Given the description of an element on the screen output the (x, y) to click on. 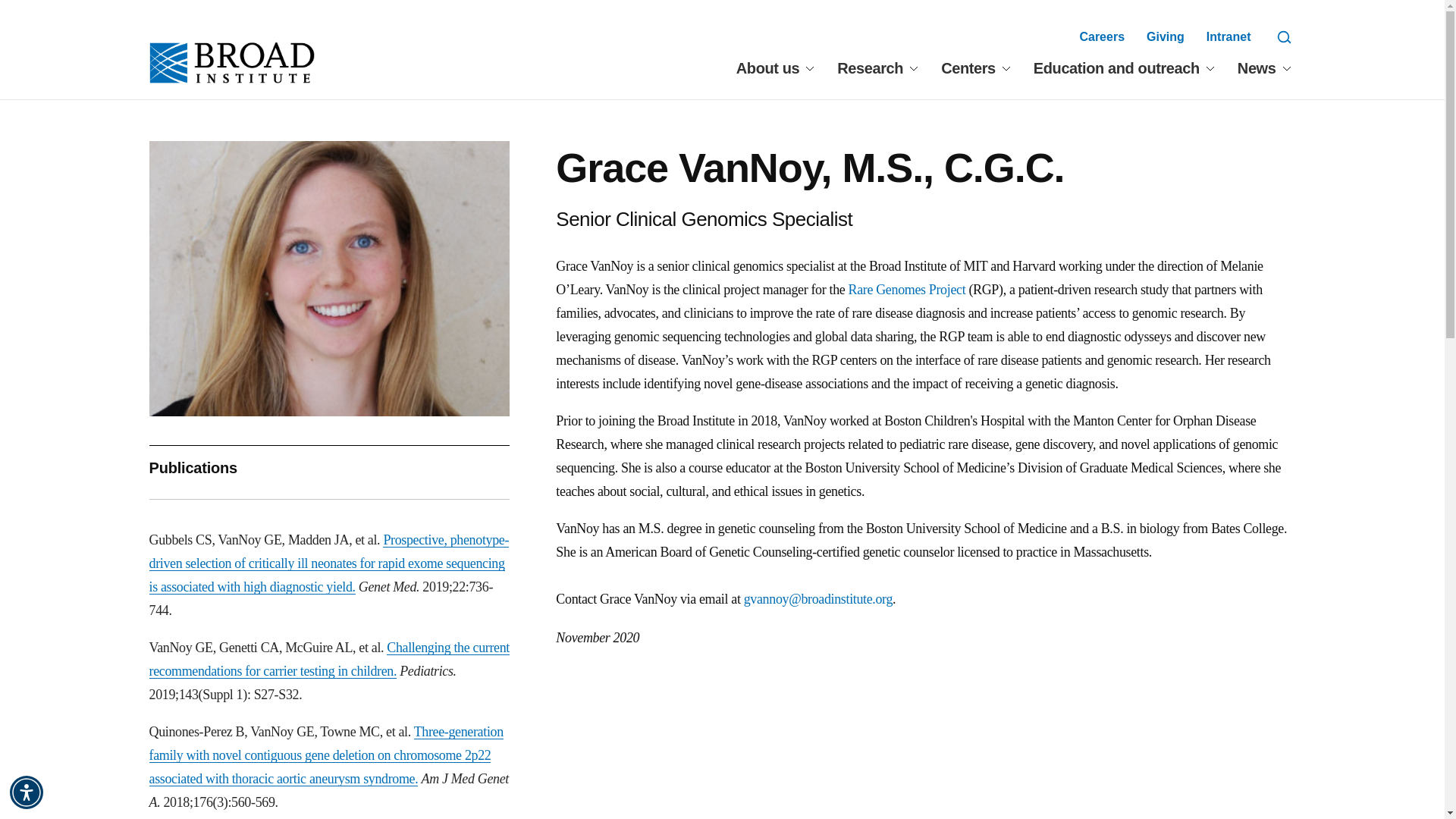
Careers (1101, 36)
Giving (1166, 36)
Intranet (1228, 36)
Broad Institute Intranet (1228, 36)
